Given the description of an element on the screen output the (x, y) to click on. 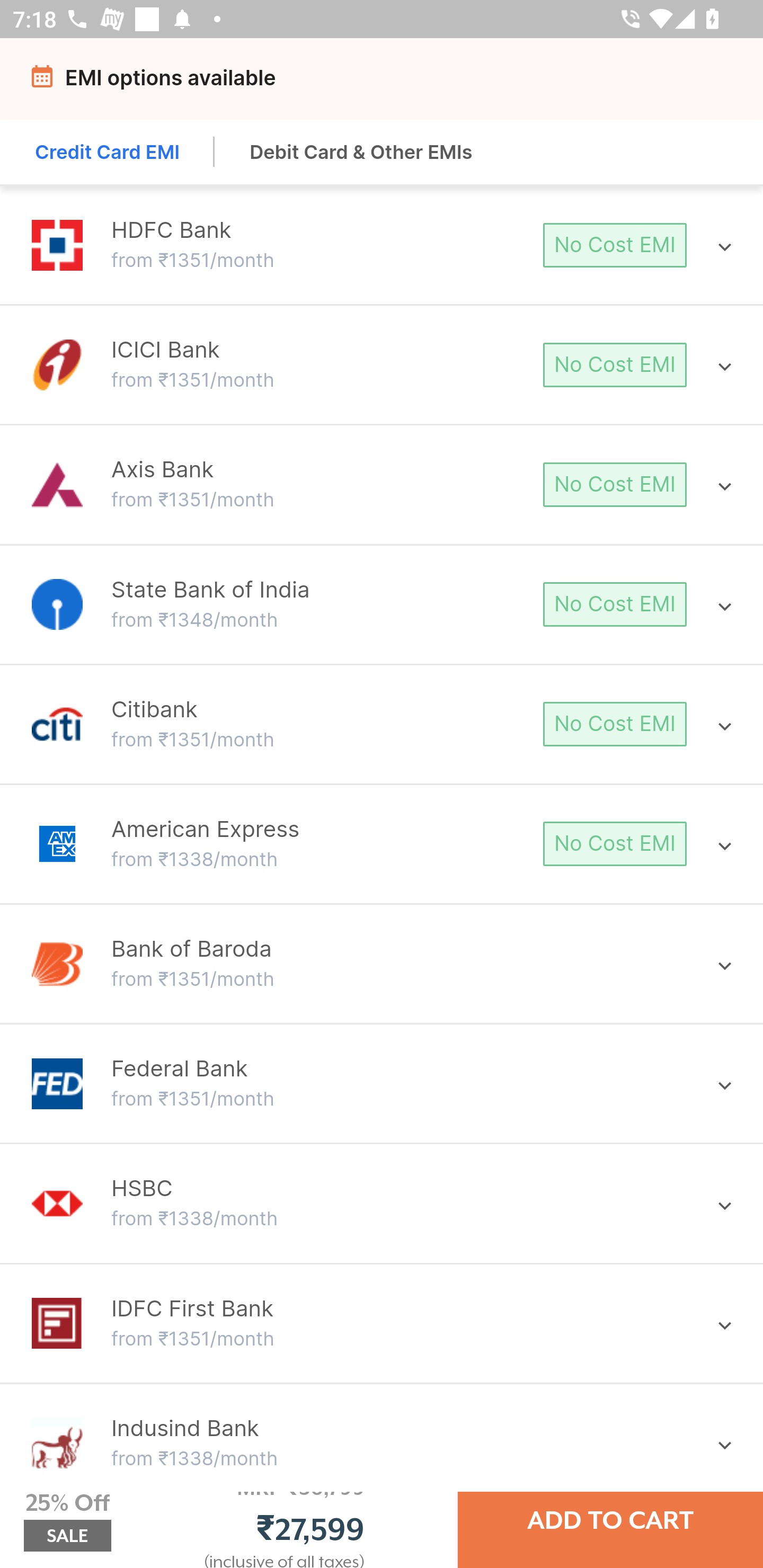
Navigate up (44, 82)
Call Us (546, 81)
Chat (629, 81)
Cart (718, 81)
Credit Card EMI (107, 152)
Debit Card & Other EMIs (361, 152)
HDFC Bank HDFC Bank from ₹1351/month No Cost EMI (381, 244)
ICICI Bank ICICI Bank from ₹1351/month No Cost EMI (381, 364)
Axis Bank Axis Bank from ₹1351/month No Cost EMI (381, 484)
Citibank Citibank from ₹1351/month No Cost EMI (381, 723)
Bank of Baroda Bank of Baroda from ₹1351/month (381, 963)
Federal Bank Federal Bank from ₹1351/month (381, 1083)
HSBC HSBC from ₹1338/month (381, 1203)
IDFC First Bank IDFC First Bank from ₹1351/month (381, 1322)
Indusind Bank Indusind Bank from ₹1338/month (381, 1443)
